Given the description of an element on the screen output the (x, y) to click on. 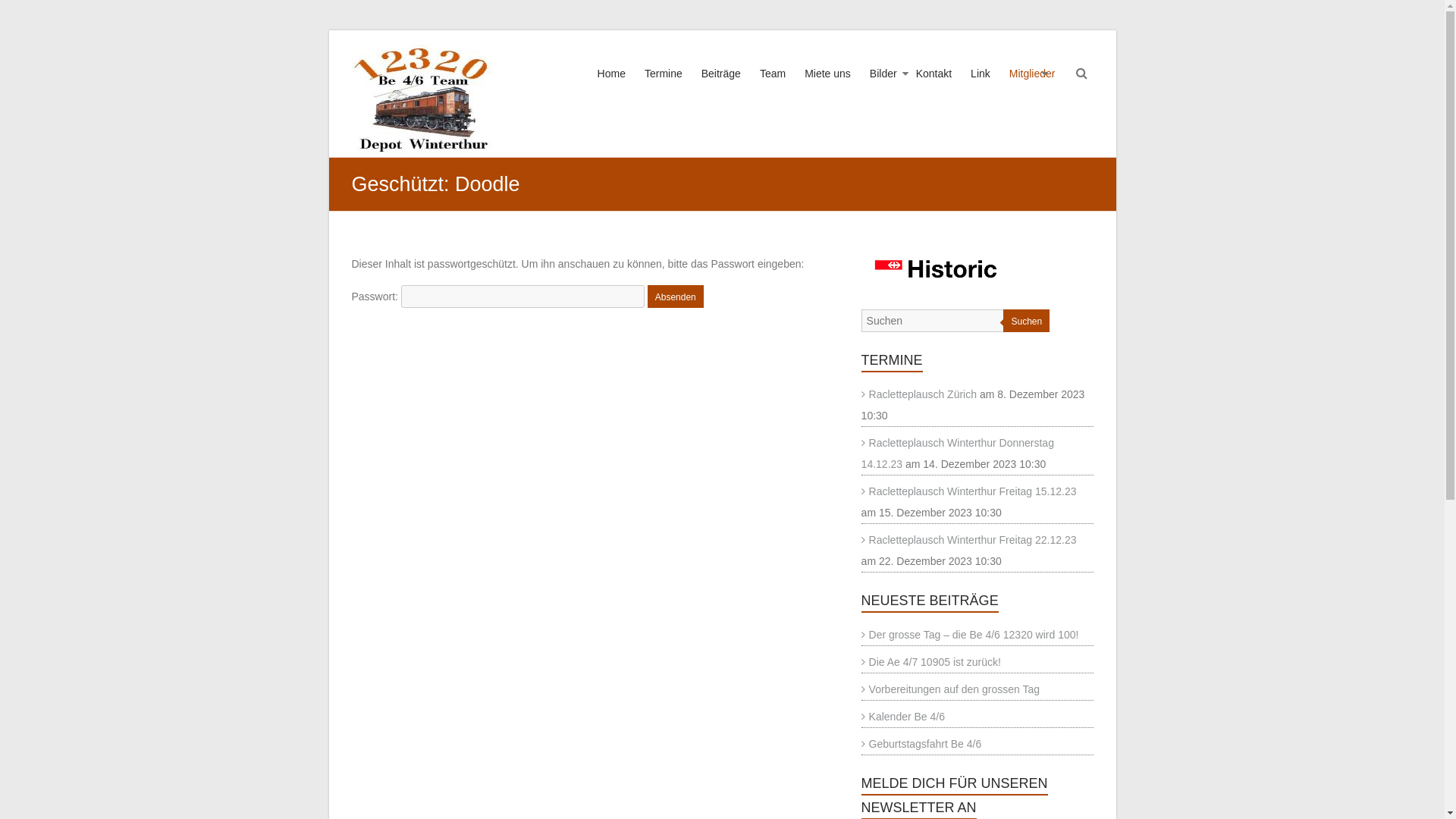
Miete uns Element type: text (827, 87)
Mitglieder Element type: text (1032, 87)
Kontakt Element type: text (933, 87)
Racletteplausch Winterthur Freitag 22.12.23 Element type: text (968, 539)
Home Element type: text (611, 87)
Link Element type: text (980, 87)
Vorbereitungen auf den grossen Tag Element type: text (950, 689)
Kalender Be 4/6 Element type: text (902, 716)
Racletteplausch Winterthur Donnerstag 14.12.23 Element type: text (957, 453)
Bilder Element type: text (883, 87)
Zum Inhalt wechseln Element type: text (327, 29)
Geburtstagsfahrt Be 4/6 Element type: text (921, 743)
Racletteplausch Winterthur Freitag 15.12.23 Element type: text (968, 491)
Suchen Element type: text (23, 11)
Termine Element type: text (663, 87)
Absenden Element type: text (675, 296)
Suchen Element type: text (1026, 320)
Team Element type: text (772, 87)
